Given the description of an element on the screen output the (x, y) to click on. 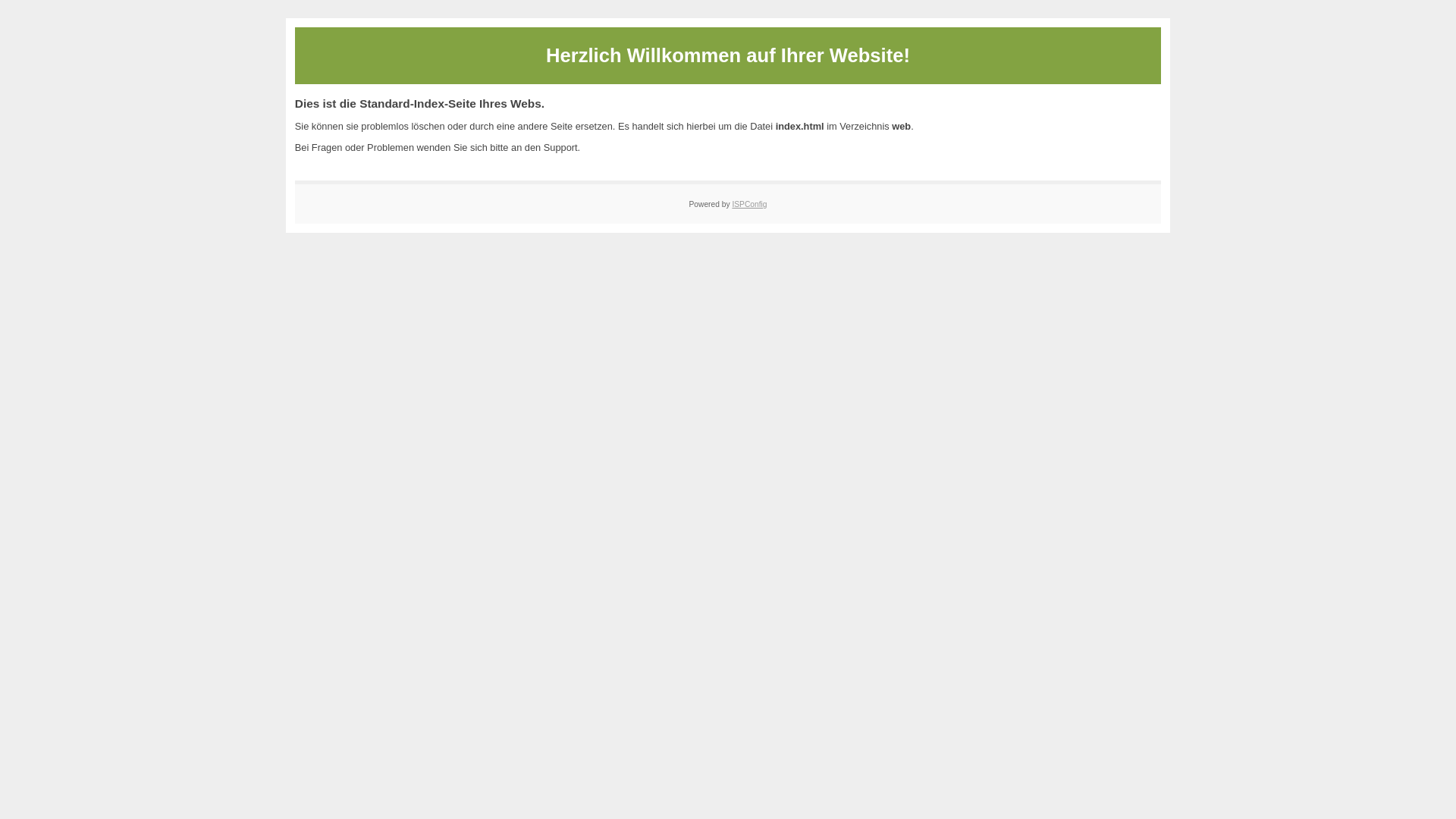
ISPConfig Element type: text (748, 204)
